Given the description of an element on the screen output the (x, y) to click on. 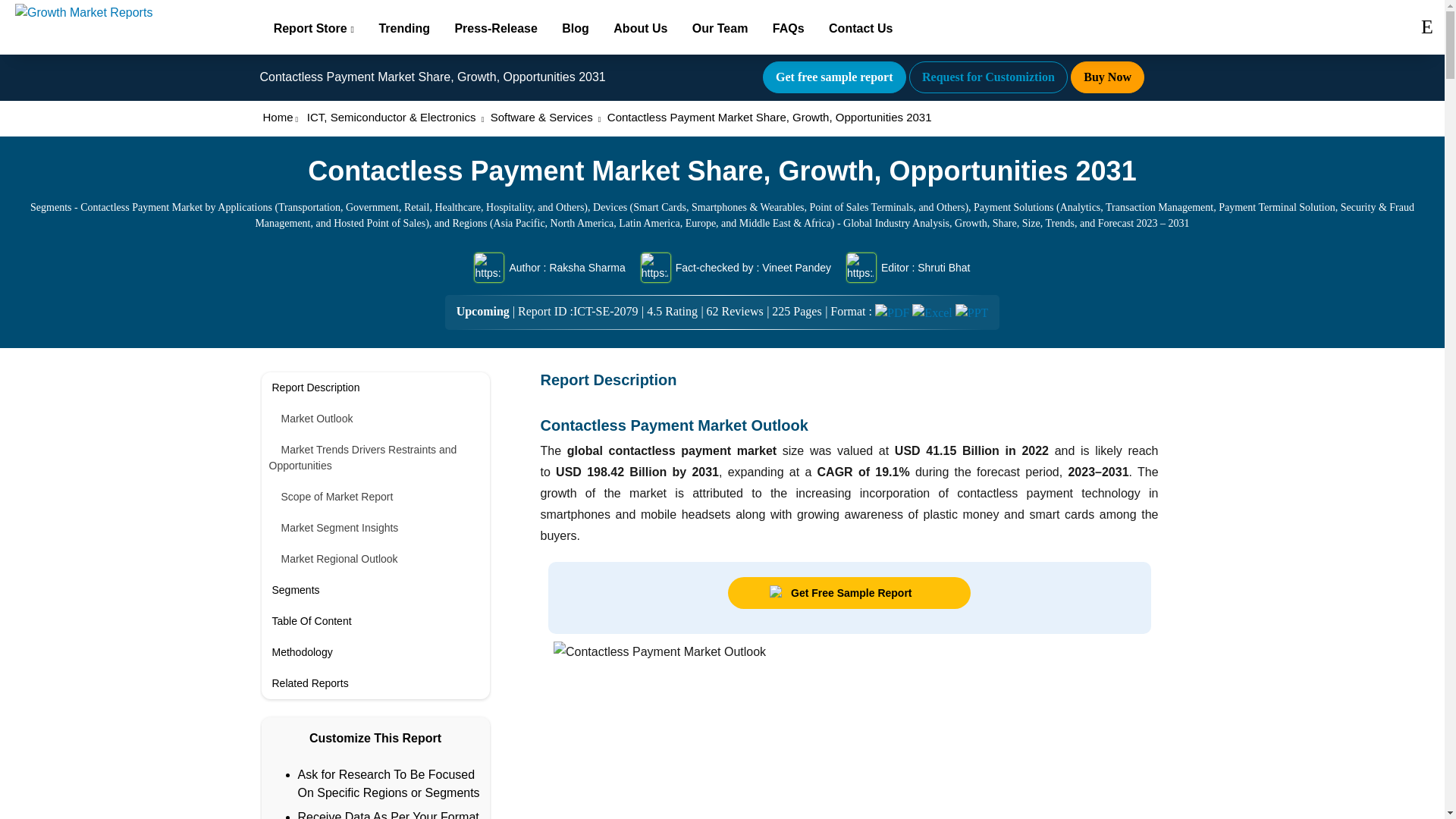
Our Team (719, 27)
Blog (575, 27)
Market Outlook (374, 418)
Report Description (374, 387)
Market Trends Drivers Restraints and Opportunities (374, 457)
FAQs (788, 27)
Request for Customiztion (987, 77)
Market Regional Outlook (374, 558)
Market Segment Insights (374, 527)
Buy Now (1107, 77)
